Given the description of an element on the screen output the (x, y) to click on. 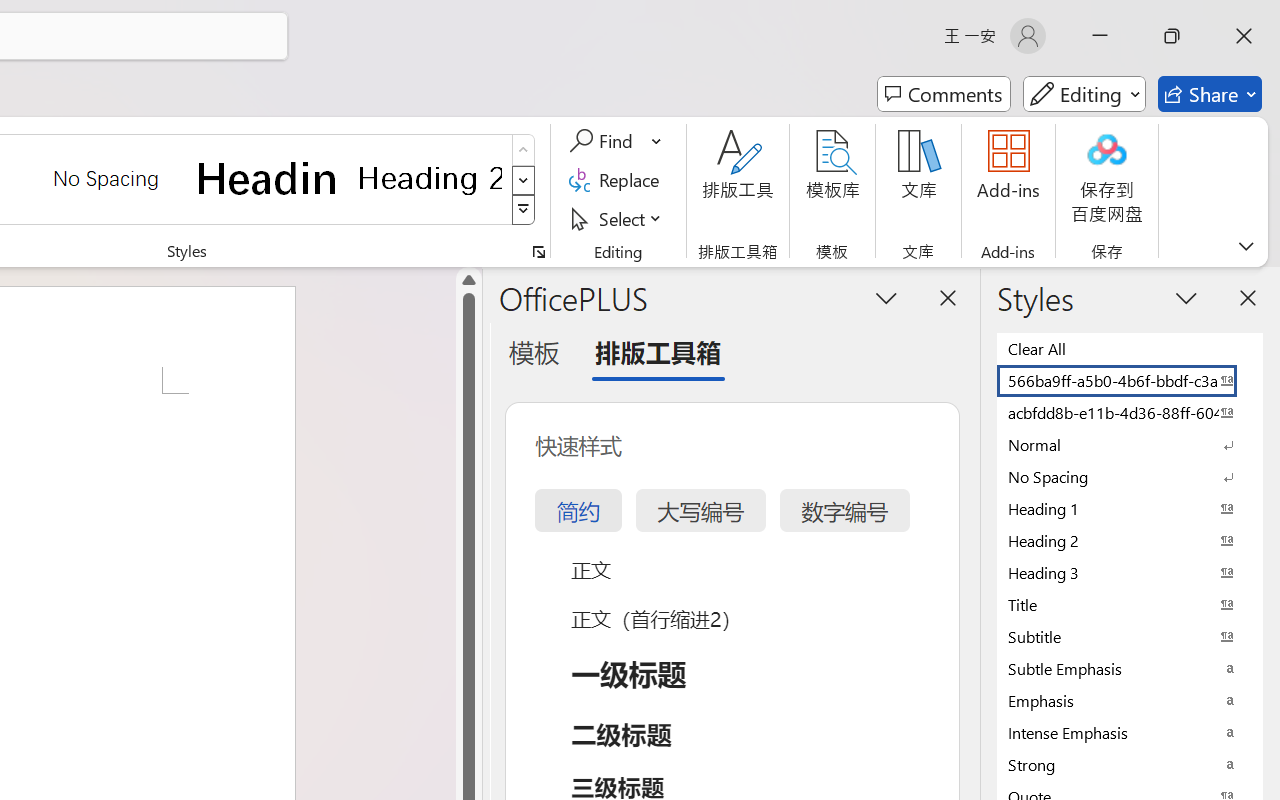
Comments (943, 94)
Styles... (538, 252)
Restore Down (1172, 36)
Row up (523, 150)
Heading 3 (1130, 572)
Replace... (617, 179)
acbfdd8b-e11b-4d36-88ff-6049b138f862 (1130, 412)
Mode (1083, 94)
Close (1244, 36)
Title (1130, 604)
Find (604, 141)
